Given the description of an element on the screen output the (x, y) to click on. 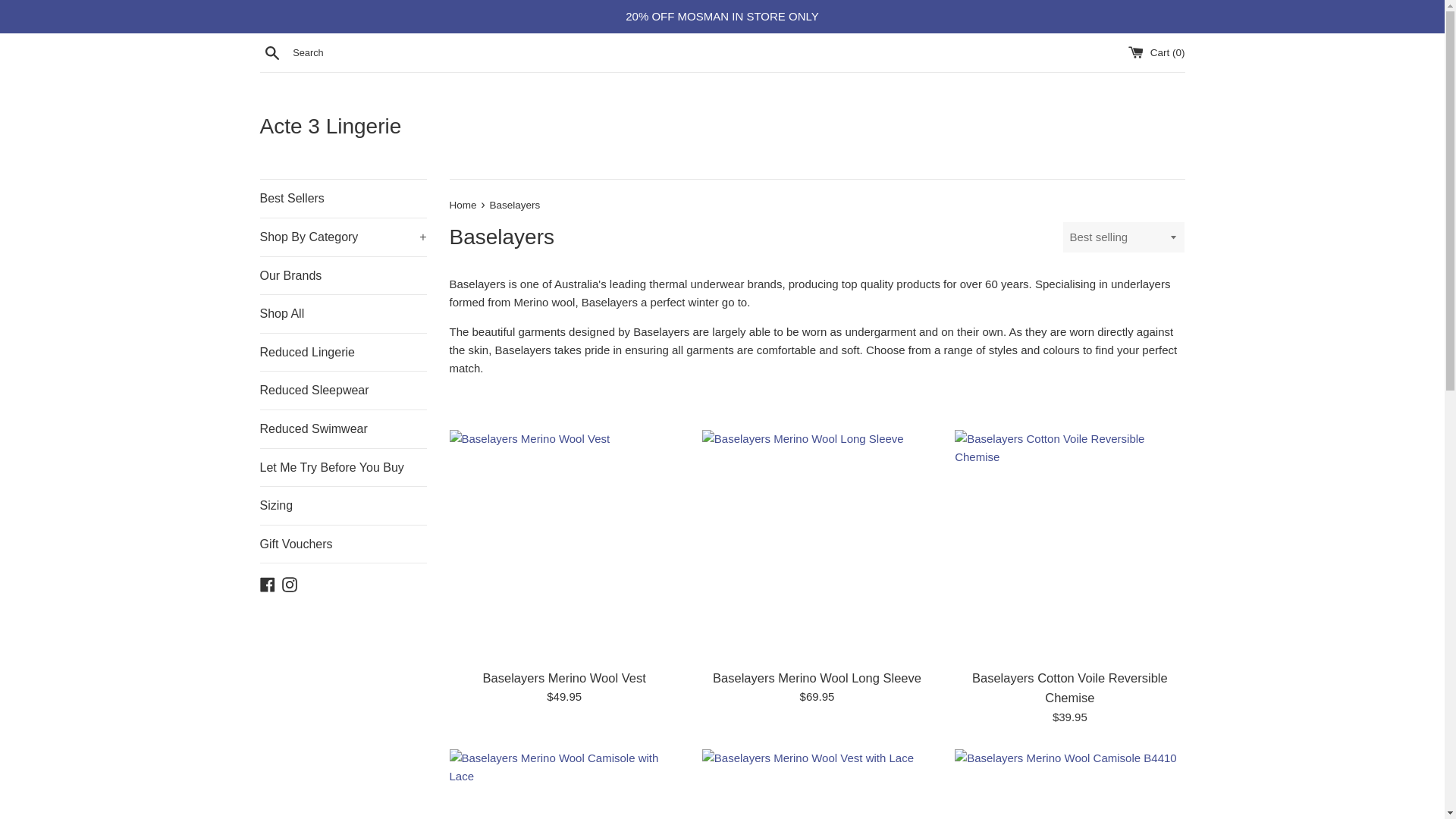
Back to the frontpage (463, 204)
Baselayers Merino Wool Camisole B4410 (1070, 784)
Baselayers Cotton Voile Reversible Chemise (1070, 544)
Acte 3 Lingerie (722, 125)
Search (271, 52)
Acte 3 Lingerie on Instagram (289, 583)
Baselayers Merino Wool Camisole with Lace (563, 784)
Baselayers Merino Wool Long Sleeve (816, 544)
Baselayers Merino Wool Vest with Lace (816, 784)
Acte 3 Lingerie on Facebook (267, 583)
